Given the description of an element on the screen output the (x, y) to click on. 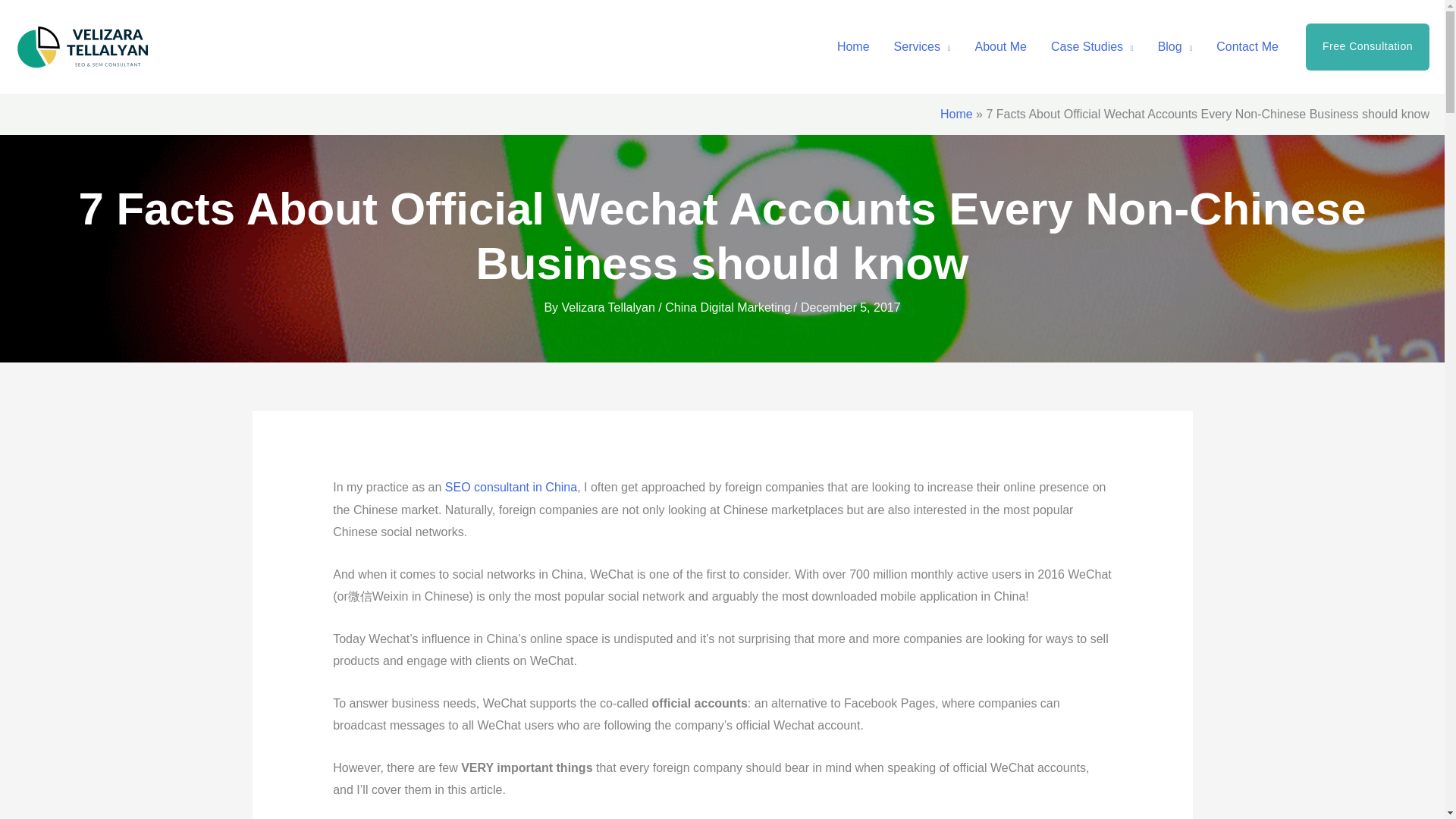
Services (922, 46)
Case Studies (1092, 46)
View all posts by Velizara Tellalyan (610, 307)
Free Consultation (1367, 46)
Blog (1175, 46)
About Me (1000, 46)
Contact Me (1247, 46)
Home (853, 46)
